Given the description of an element on the screen output the (x, y) to click on. 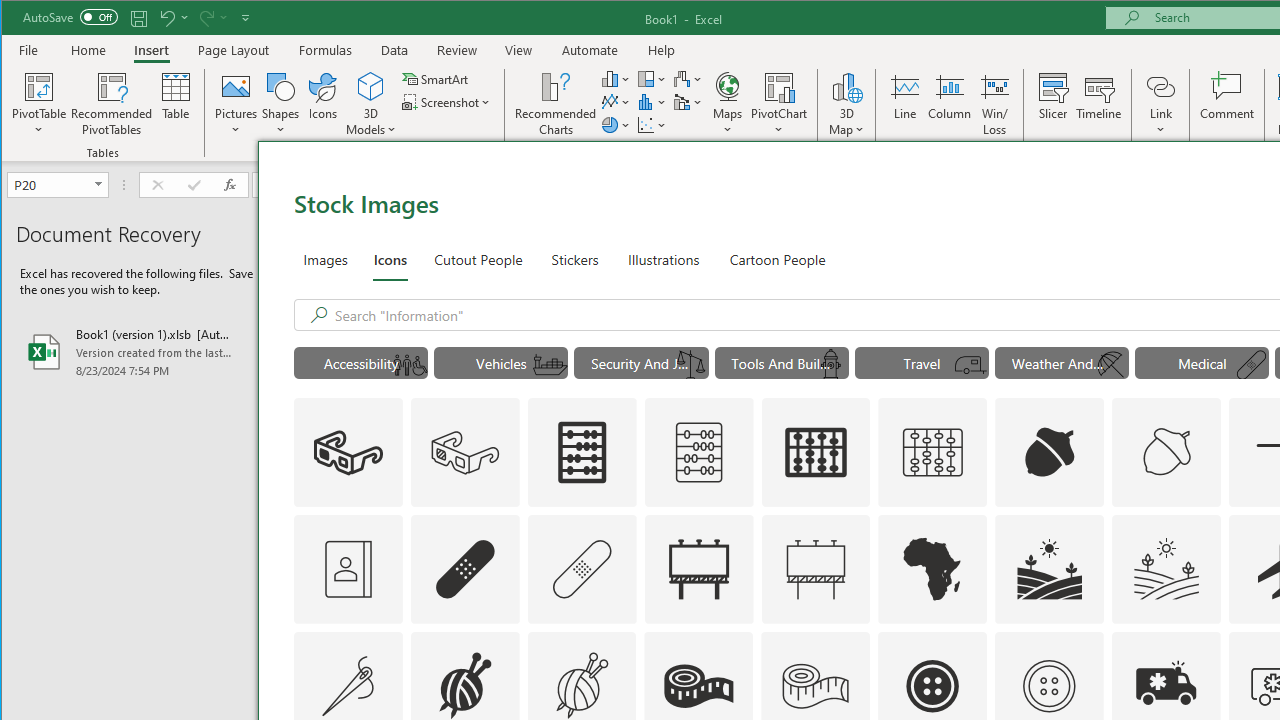
Pictures (235, 104)
Insert Statistic Chart (652, 101)
Column (949, 104)
"Weather And Seasons" Icons. (1061, 362)
Recommended PivotTables (111, 104)
3D Models (371, 104)
3D Map (846, 86)
Insert Line or Area Chart (616, 101)
AutomationID: Icons_UniversalAccess_M (409, 365)
Images (325, 258)
